Given the description of an element on the screen output the (x, y) to click on. 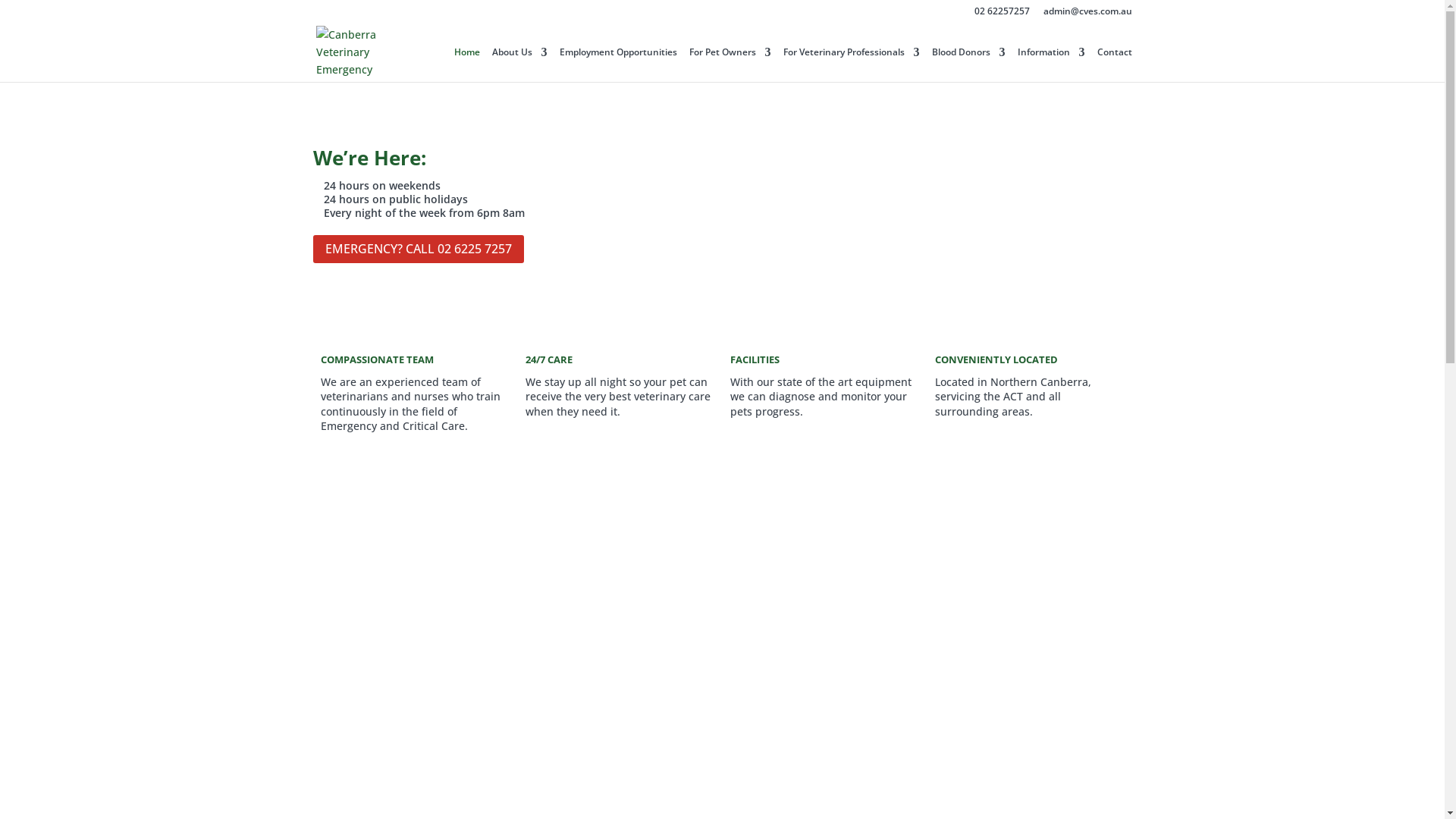
Home Element type: text (466, 64)
Contact Element type: text (1113, 64)
EMERGENCY? CALL 02 6225 7257 Element type: text (417, 249)
For Veterinary Professionals Element type: text (850, 64)
For Pet Owners Element type: text (729, 64)
Employment Opportunities Element type: text (618, 64)
02 62257257 Element type: text (1001, 14)
admin@cves.com.au Element type: text (1087, 14)
About Us Element type: text (518, 64)
Blood Donors Element type: text (967, 64)
Information Element type: text (1051, 64)
